Given the description of an element on the screen output the (x, y) to click on. 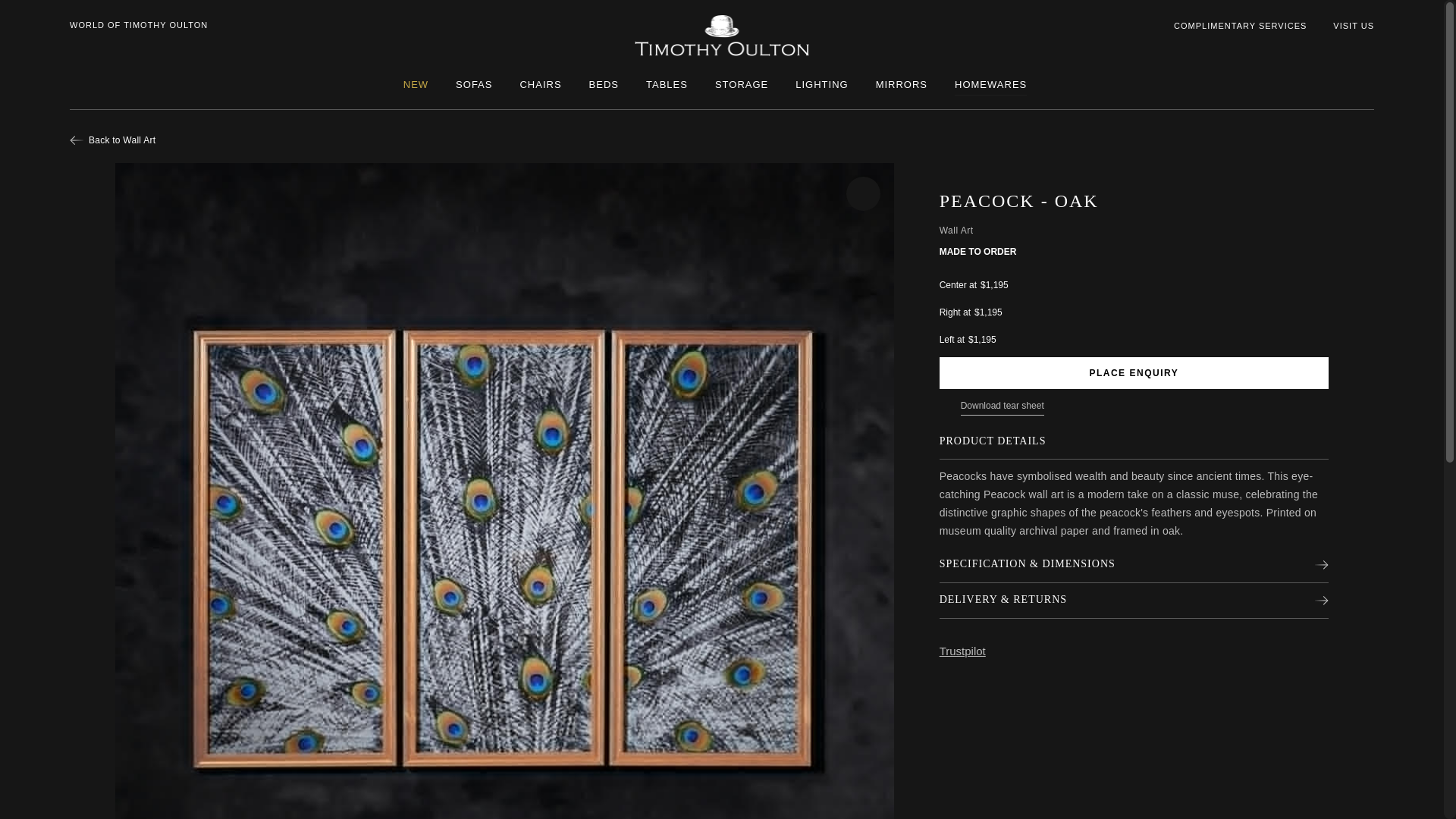
Search (1368, 57)
VISIT US (1353, 26)
NEW (415, 84)
SOFAS (473, 84)
WORLD OF TIMOTHY OULTON (138, 25)
CHAIRS (539, 84)
COMPLIMENTARY SERVICES (1239, 26)
